Given the description of an element on the screen output the (x, y) to click on. 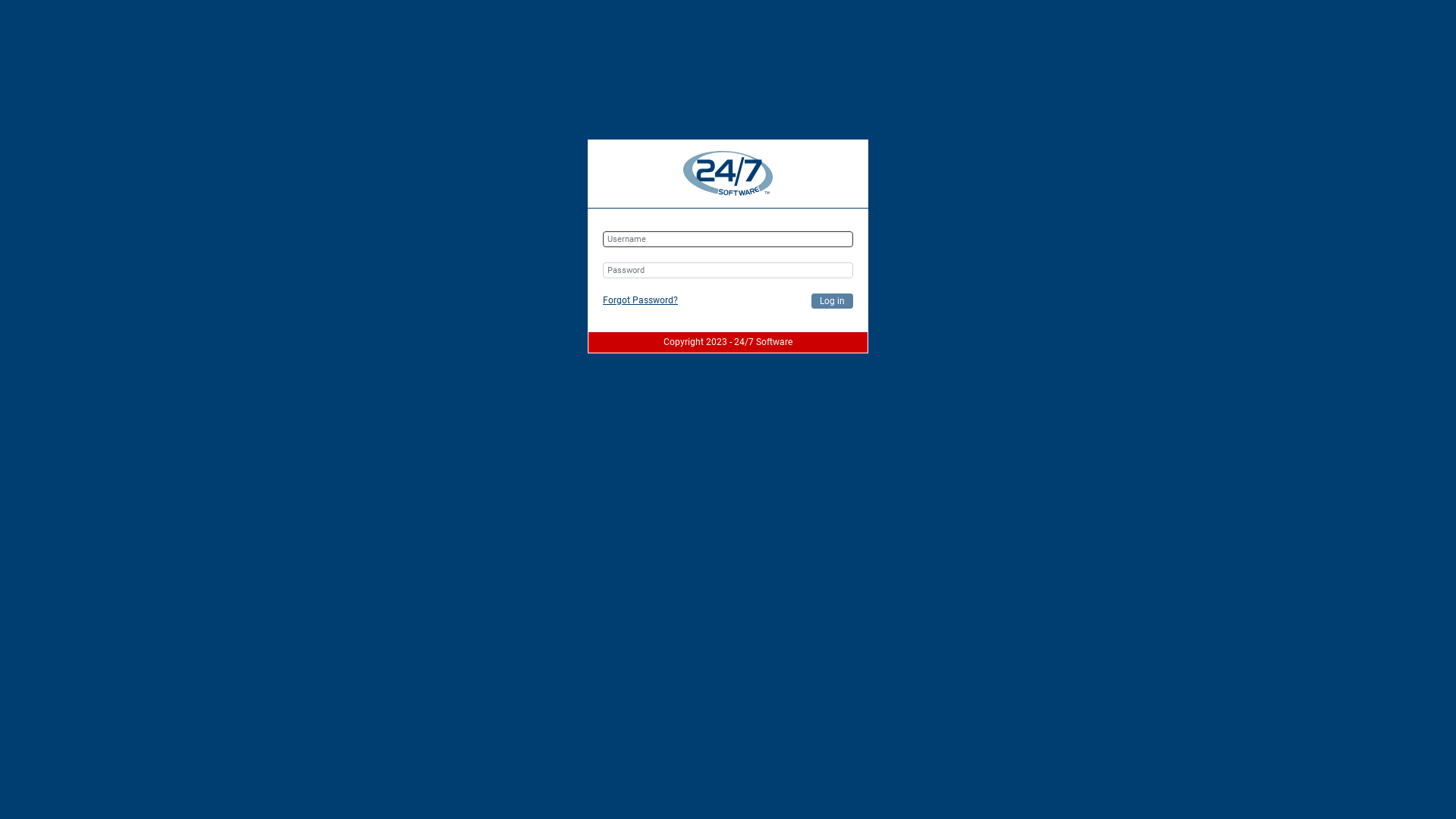
Forgot Password? Element type: text (639, 299)
Log in Element type: text (832, 300)
